Given the description of an element on the screen output the (x, y) to click on. 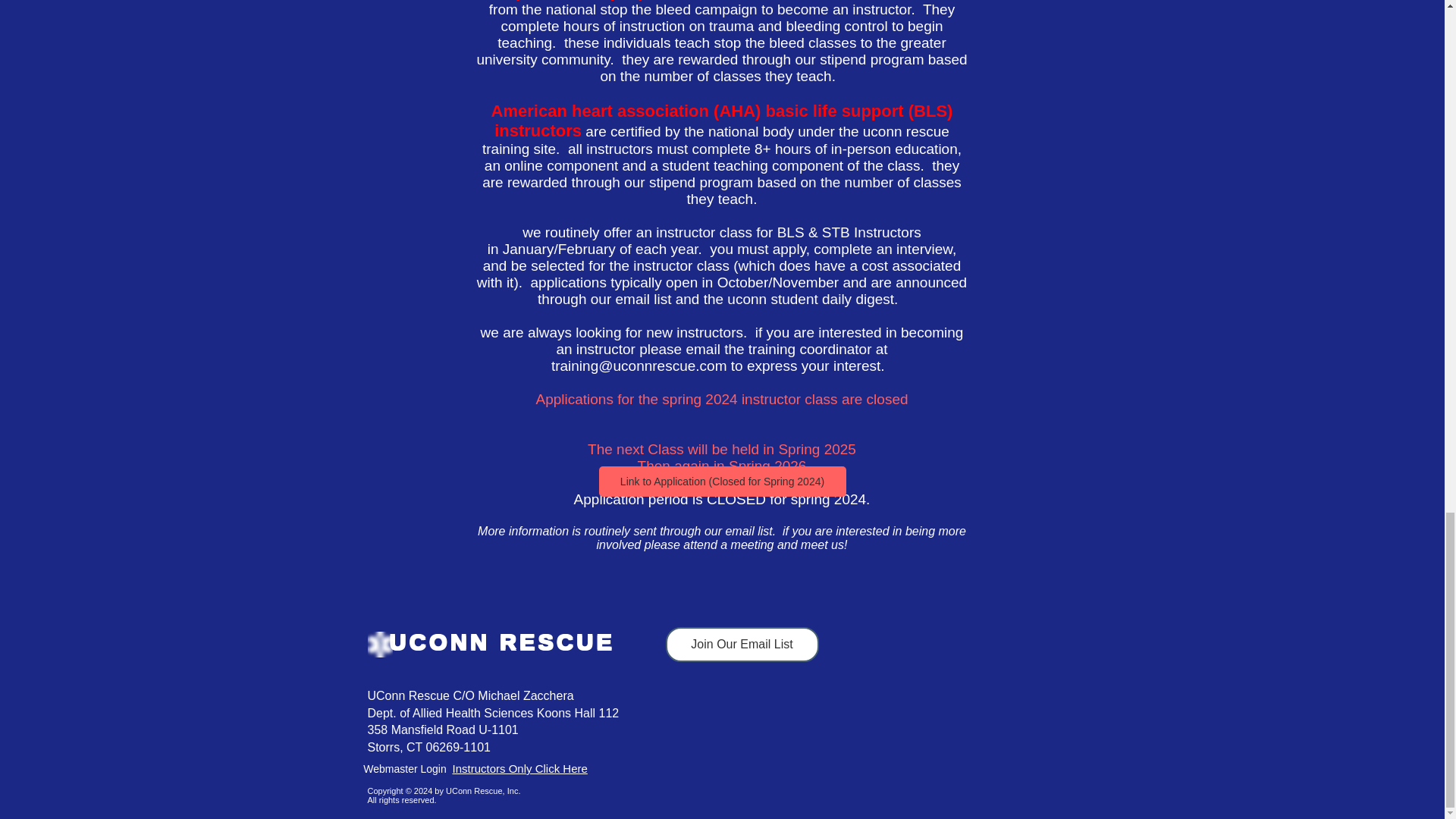
Webmaster Login (405, 769)
UCONN RESCUE (502, 641)
Join Our Email List (741, 644)
Instructors Only Click Here (518, 768)
